Given the description of an element on the screen output the (x, y) to click on. 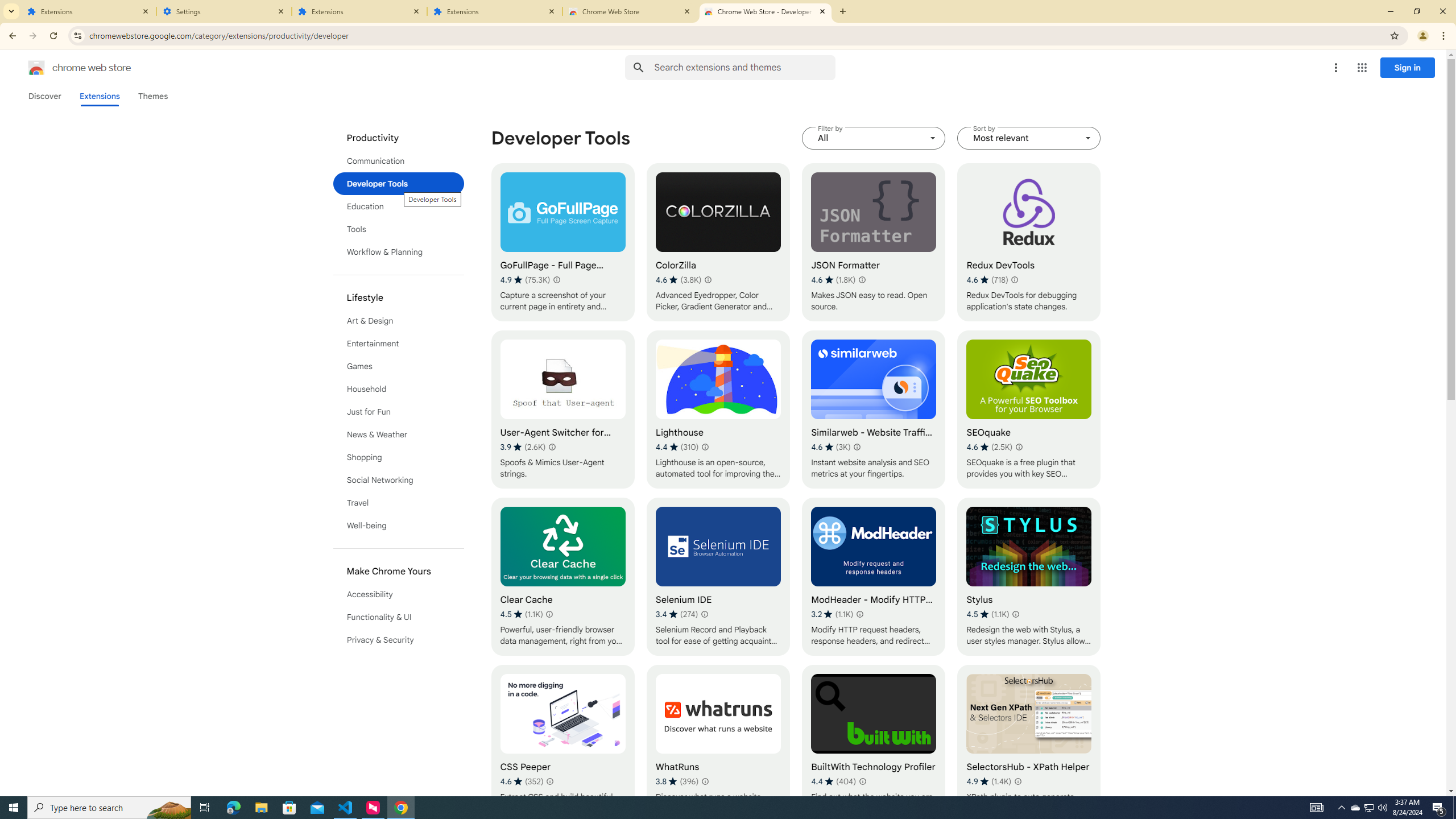
Learn more about results and reviews "CSS Peeper" (549, 780)
Chrome Web Store logo chrome web store (67, 67)
Learn more about results and reviews "ColorZilla" (707, 279)
Sort by Most relevant (1028, 137)
Average rating 4.6 out of 5 stars. 718 ratings. (987, 279)
Learn more about results and reviews "SEOquake" (1018, 446)
Learn more about results and reviews "WhatRuns" (705, 780)
Household (398, 388)
Extensions (99, 95)
Extensions (88, 11)
